Given the description of an element on the screen output the (x, y) to click on. 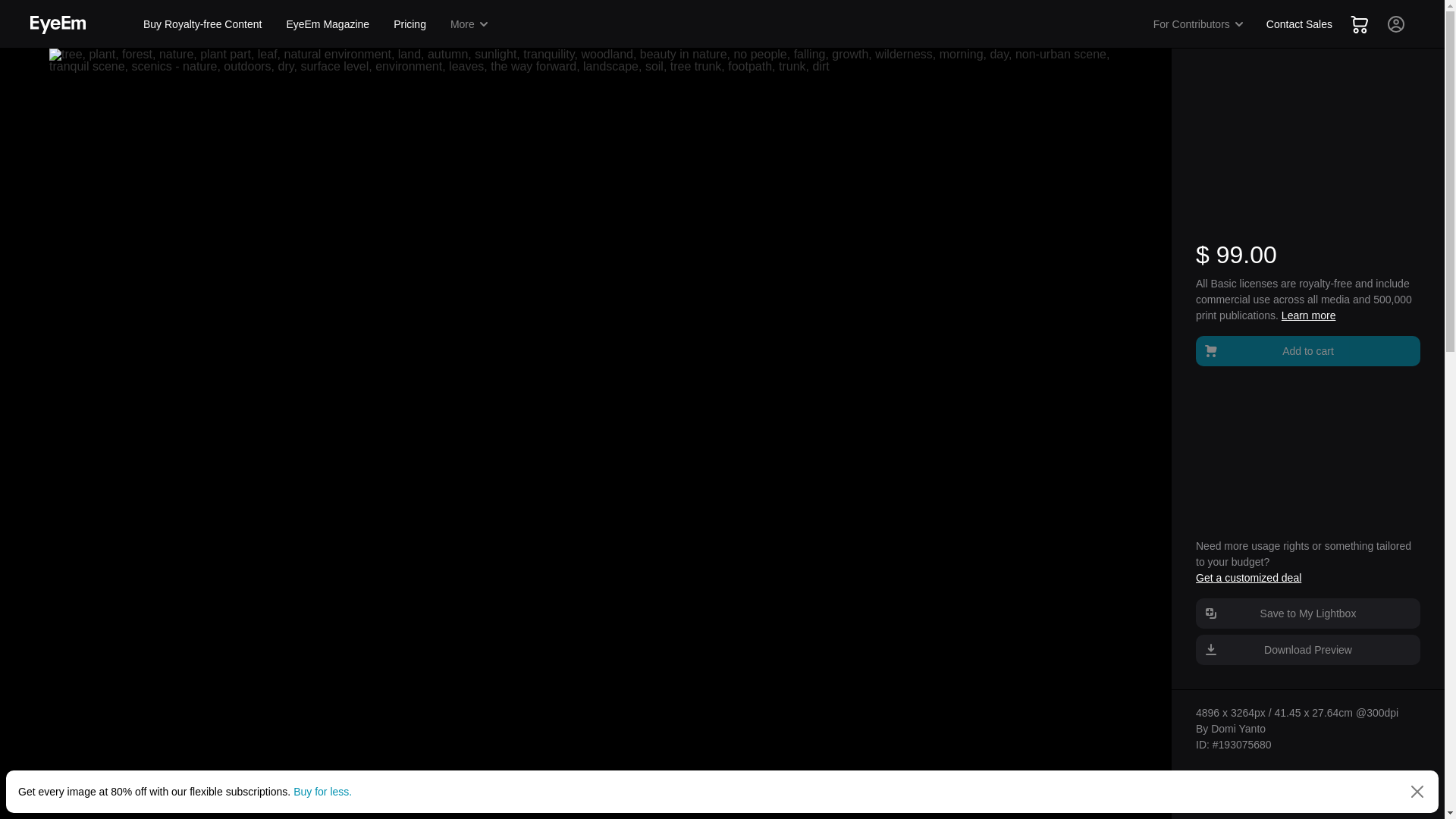
Pricing (409, 24)
Add to cart (1308, 349)
Contact Sales (1298, 24)
Learn more (1308, 315)
More (470, 24)
EyeEm Magazine (327, 24)
Buy for less. (323, 791)
Buy Royalty-free Content (201, 24)
By Domi Yanto (1230, 727)
Save to My Lightbox (1308, 613)
